Given the description of an element on the screen output the (x, y) to click on. 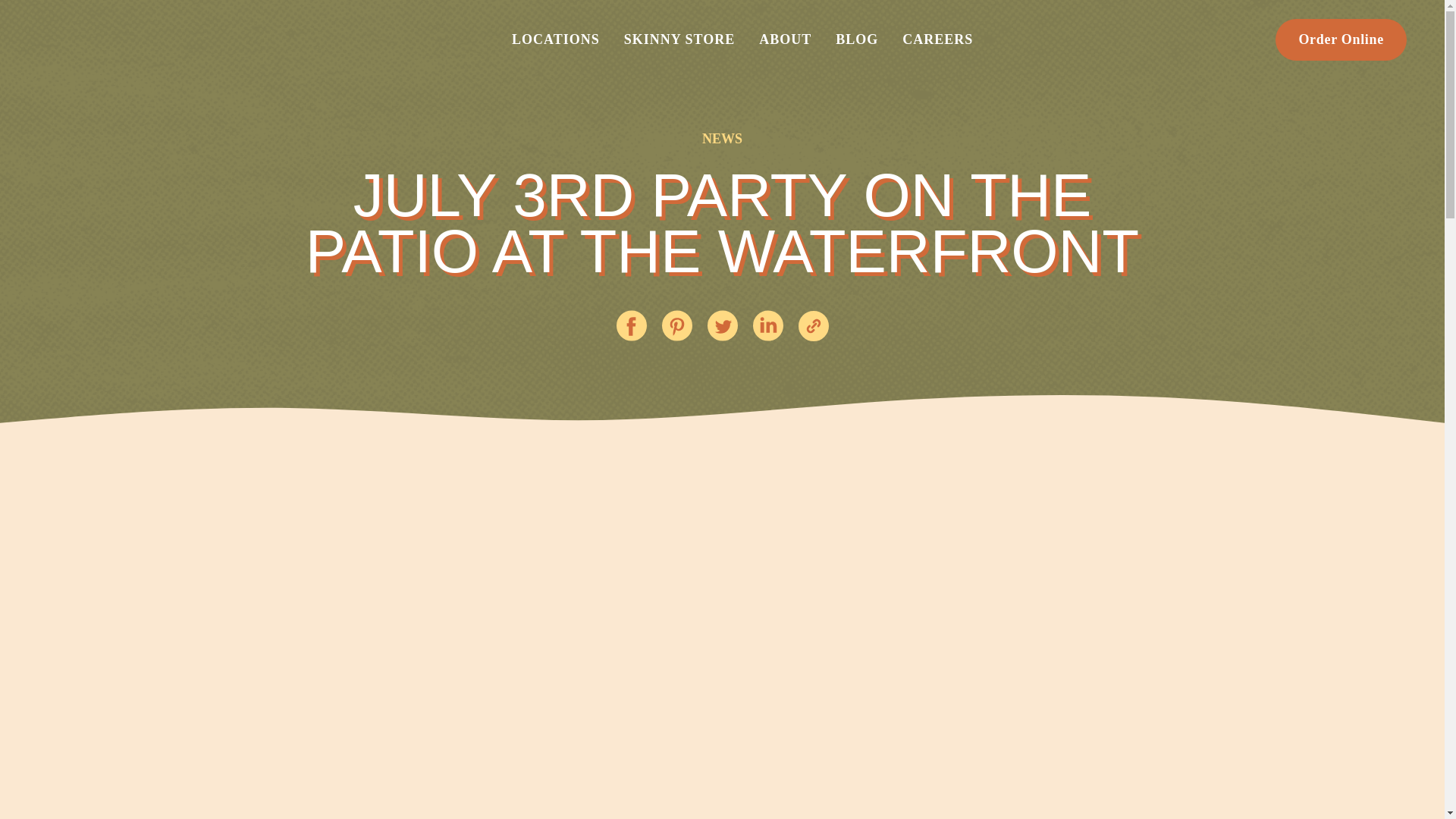
Share this post on LinkedIn (767, 326)
Order Online (1340, 39)
CAREERS (937, 39)
home (128, 39)
ABOUT (785, 39)
Pin this post on Pinterest (676, 326)
Copy this post to your clipboard (812, 326)
SKINNY STORE (679, 39)
LOCATIONS (555, 39)
Share this post on Facebook (630, 326)
